Given the description of an element on the screen output the (x, y) to click on. 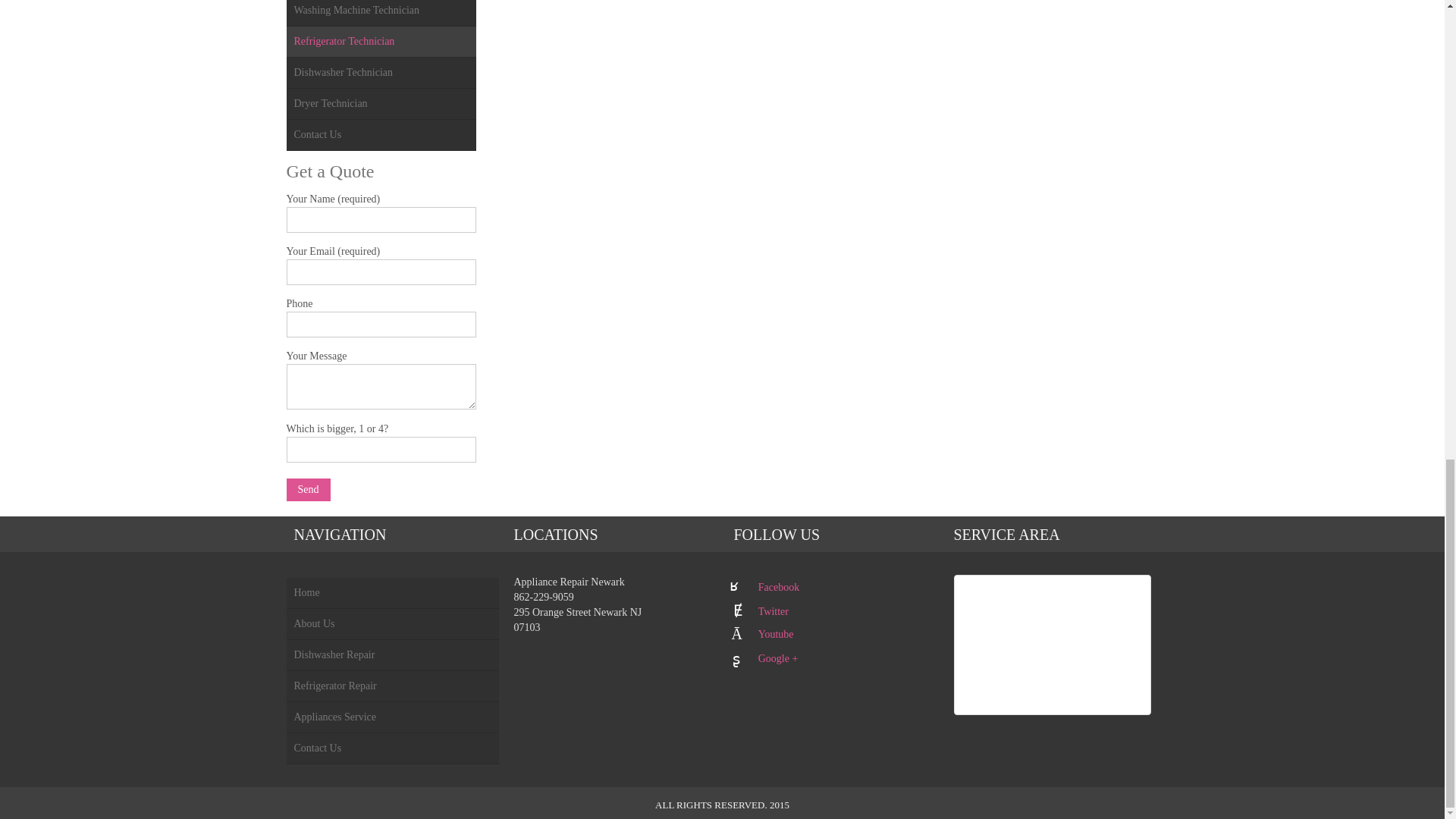
Send (308, 489)
